Given the description of an element on the screen output the (x, y) to click on. 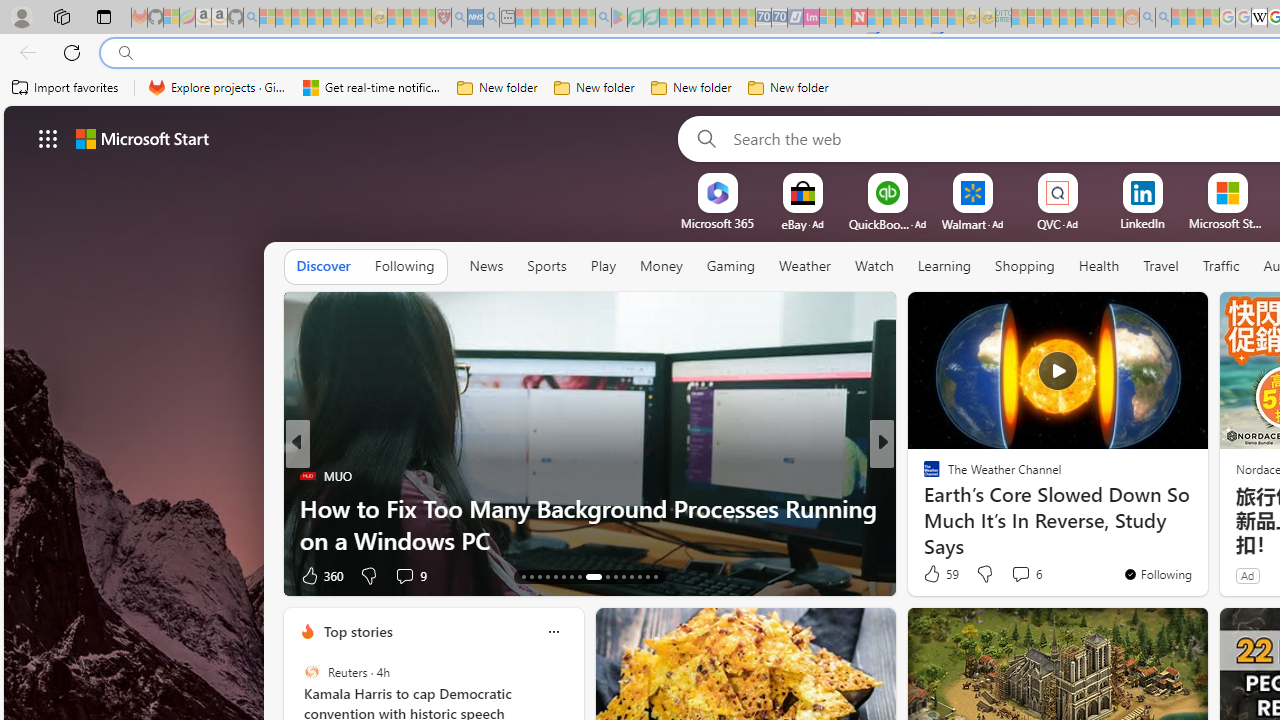
Money (660, 265)
Terms of Use Agreement - Sleeping (635, 17)
Morning Carpool (923, 475)
Search icon (125, 53)
View comments 9 Comment (410, 574)
